Given the description of an element on the screen output the (x, y) to click on. 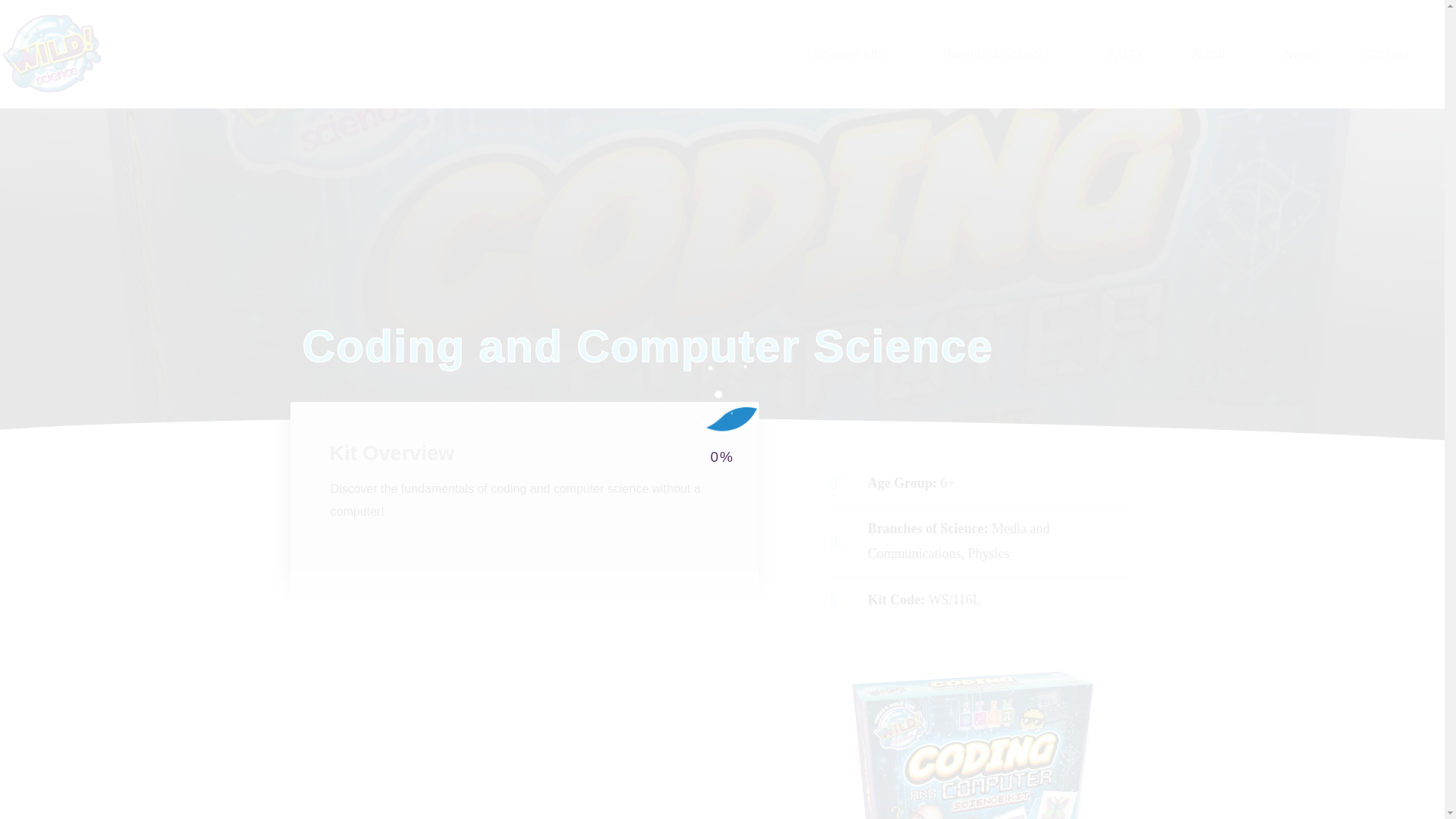
Science Kits (865, 54)
News (1311, 54)
About (1224, 54)
